Given the description of an element on the screen output the (x, y) to click on. 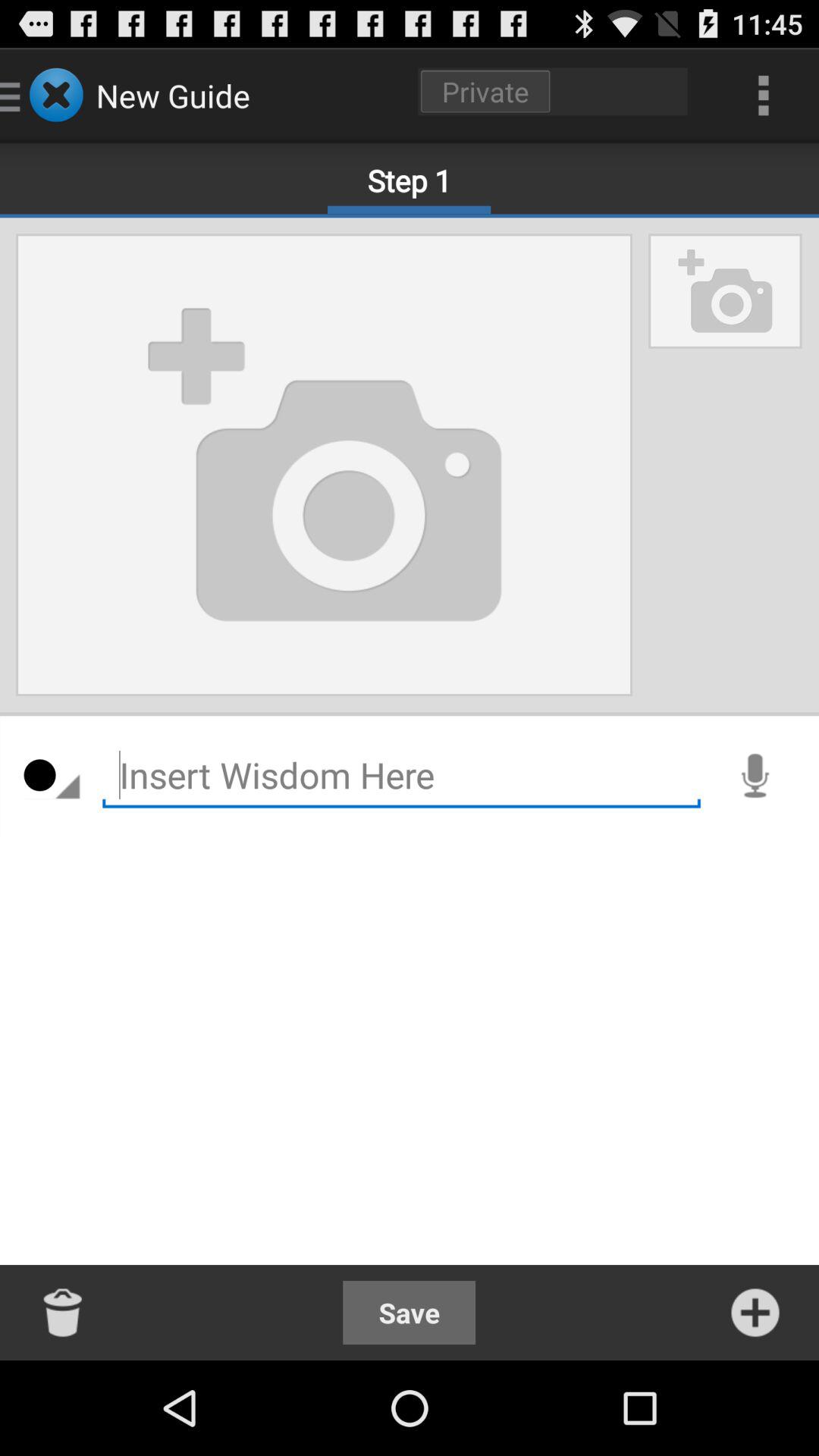
press icon to the right of the save button (755, 1312)
